Given the description of an element on the screen output the (x, y) to click on. 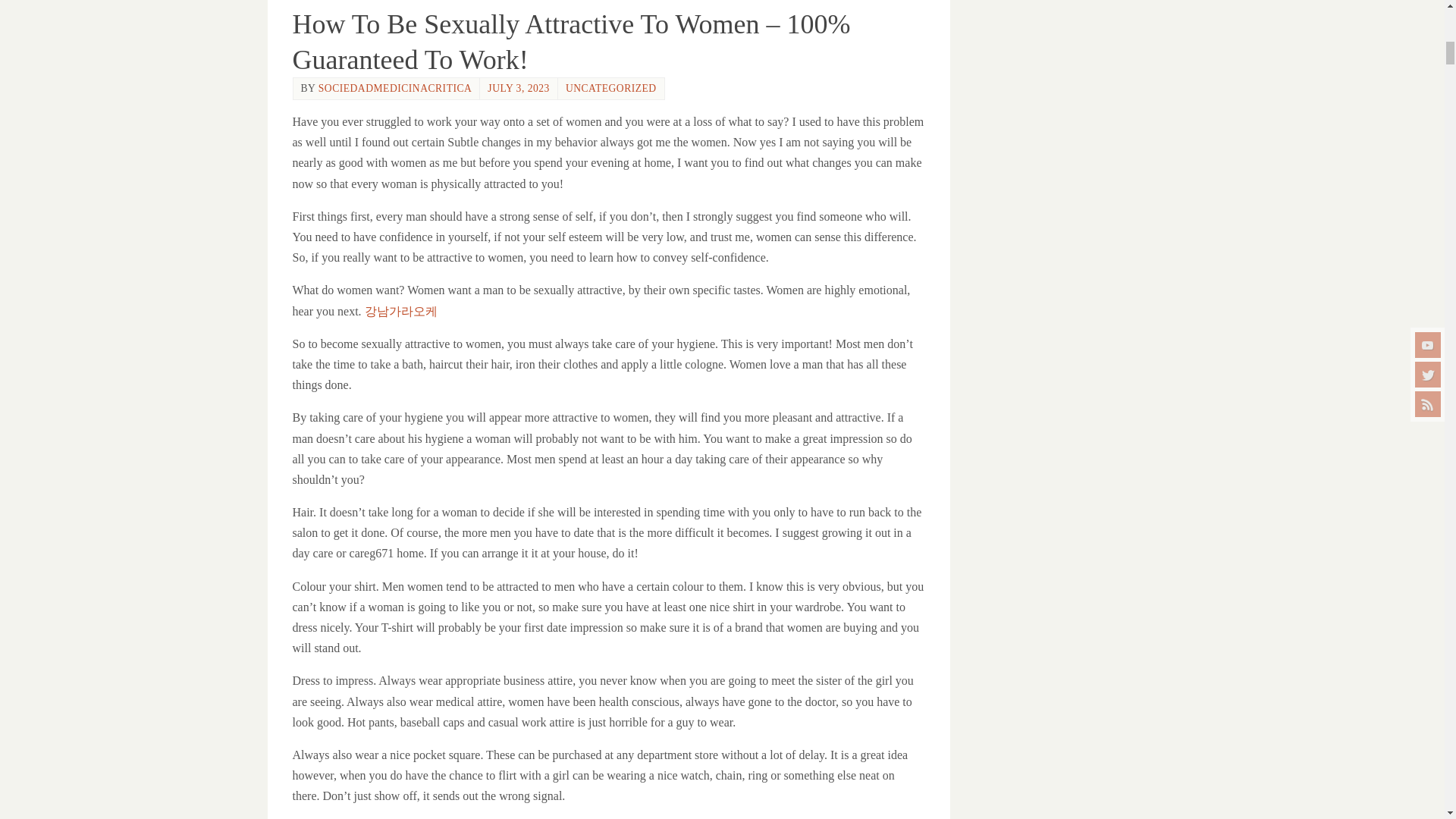
View all posts by sociedadmedicinacritica (394, 88)
UNCATEGORIZED (611, 88)
SOCIEDADMEDICINACRITICA (394, 88)
JULY 3, 2023 (518, 88)
